Given the description of an element on the screen output the (x, y) to click on. 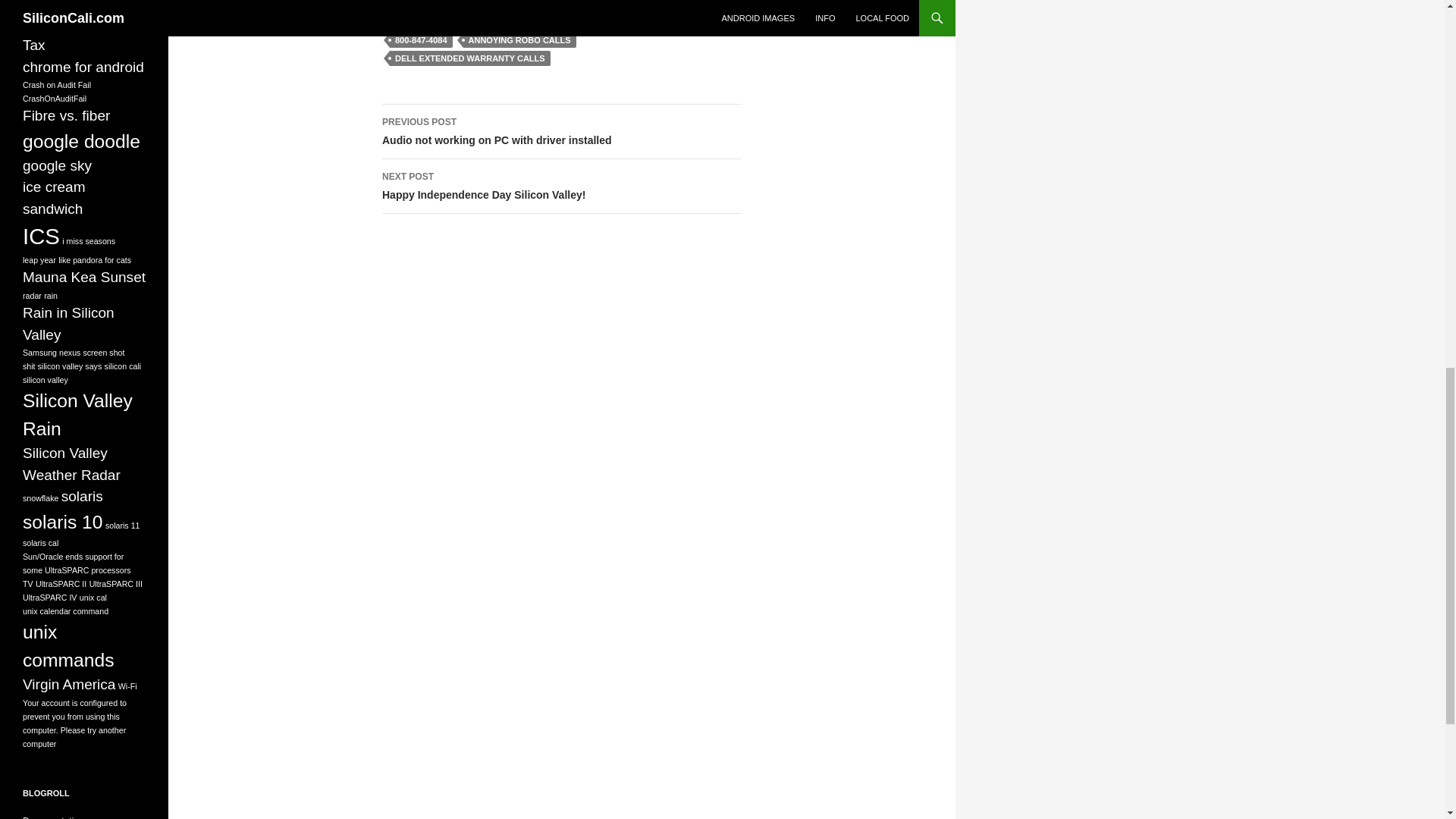
california gas prices (65, 4)
Crash on Audit Fail (56, 84)
DELL EXTENDED WARRANTY CALLS (561, 185)
Fibre vs. fiber (470, 58)
California Sales Tax (66, 115)
ICS (73, 34)
800-847-4084 (41, 235)
CrashOnAuditFail (421, 39)
google doodle (54, 98)
google sky (561, 131)
chrome for android (81, 141)
i miss seasons (57, 165)
ANNOYING ROBO CALLS (83, 66)
